Given the description of an element on the screen output the (x, y) to click on. 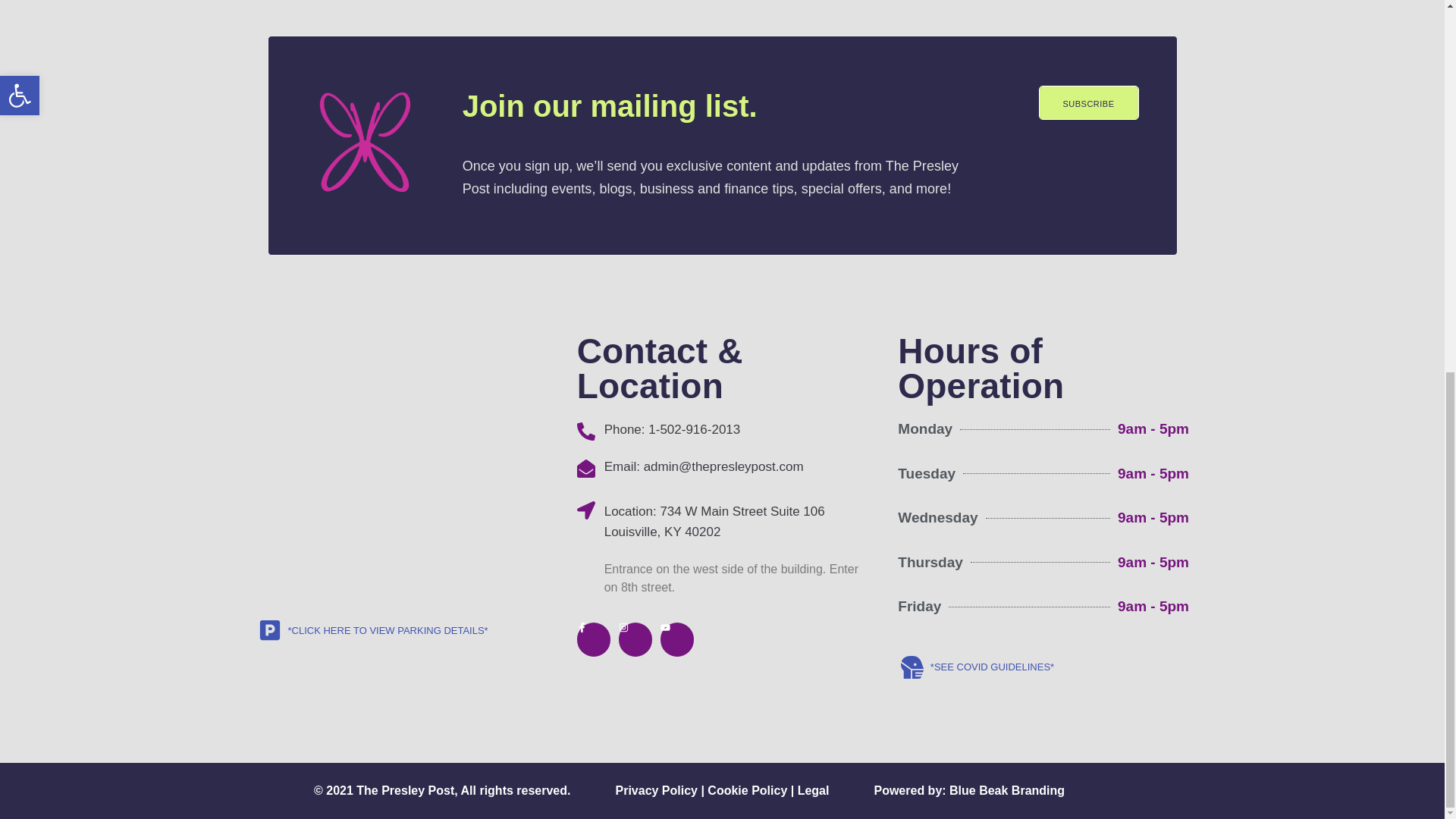
The Presley Post, 734 W Main St, Louisville, KY 40202 (401, 468)
